Given the description of an element on the screen output the (x, y) to click on. 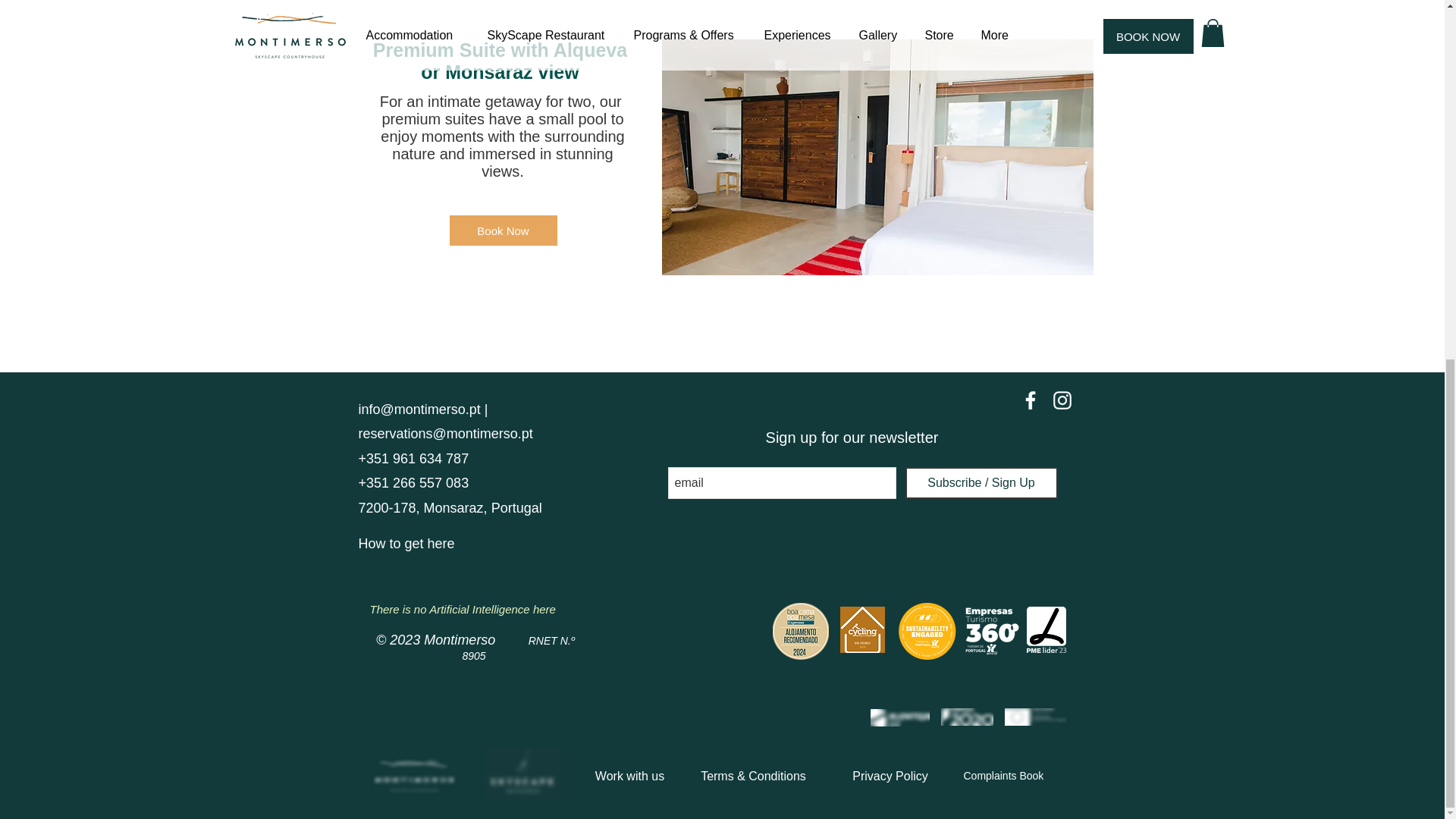
Book Now (502, 230)
How to get here (406, 544)
 Portugal (514, 507)
7200-178 (386, 507)
Work with us (630, 776)
, Monsaraz, (451, 507)
Privacy Policy (890, 776)
